Given the description of an element on the screen output the (x, y) to click on. 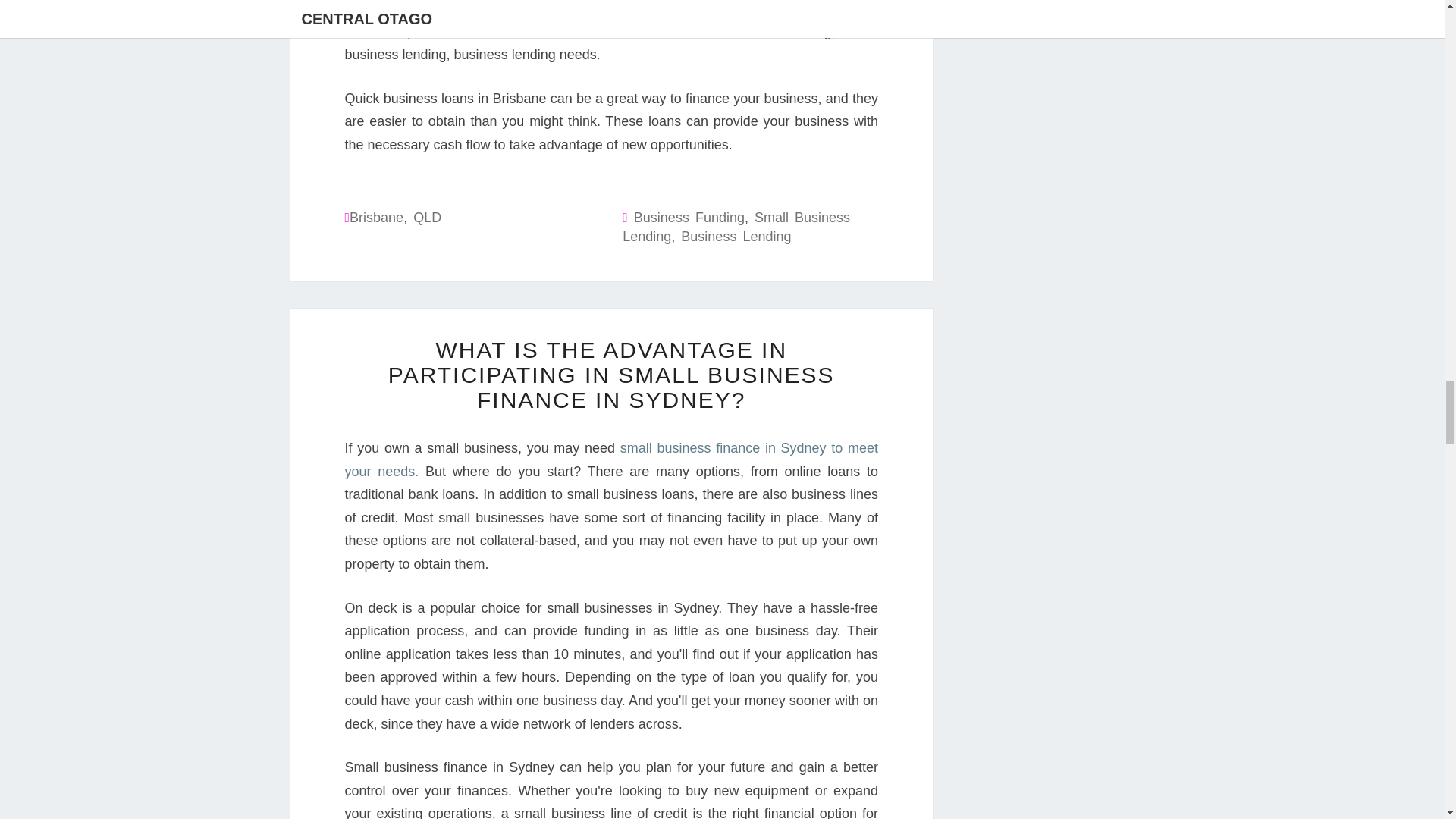
smallbusinessloanbrisbane.com.au (576, 31)
Small Business Lending (736, 226)
Brisbane (376, 217)
small business finance in Sydney to meet your needs. (610, 459)
QLD (427, 217)
Business Lending (735, 236)
Business Funding (688, 217)
